Given the description of an element on the screen output the (x, y) to click on. 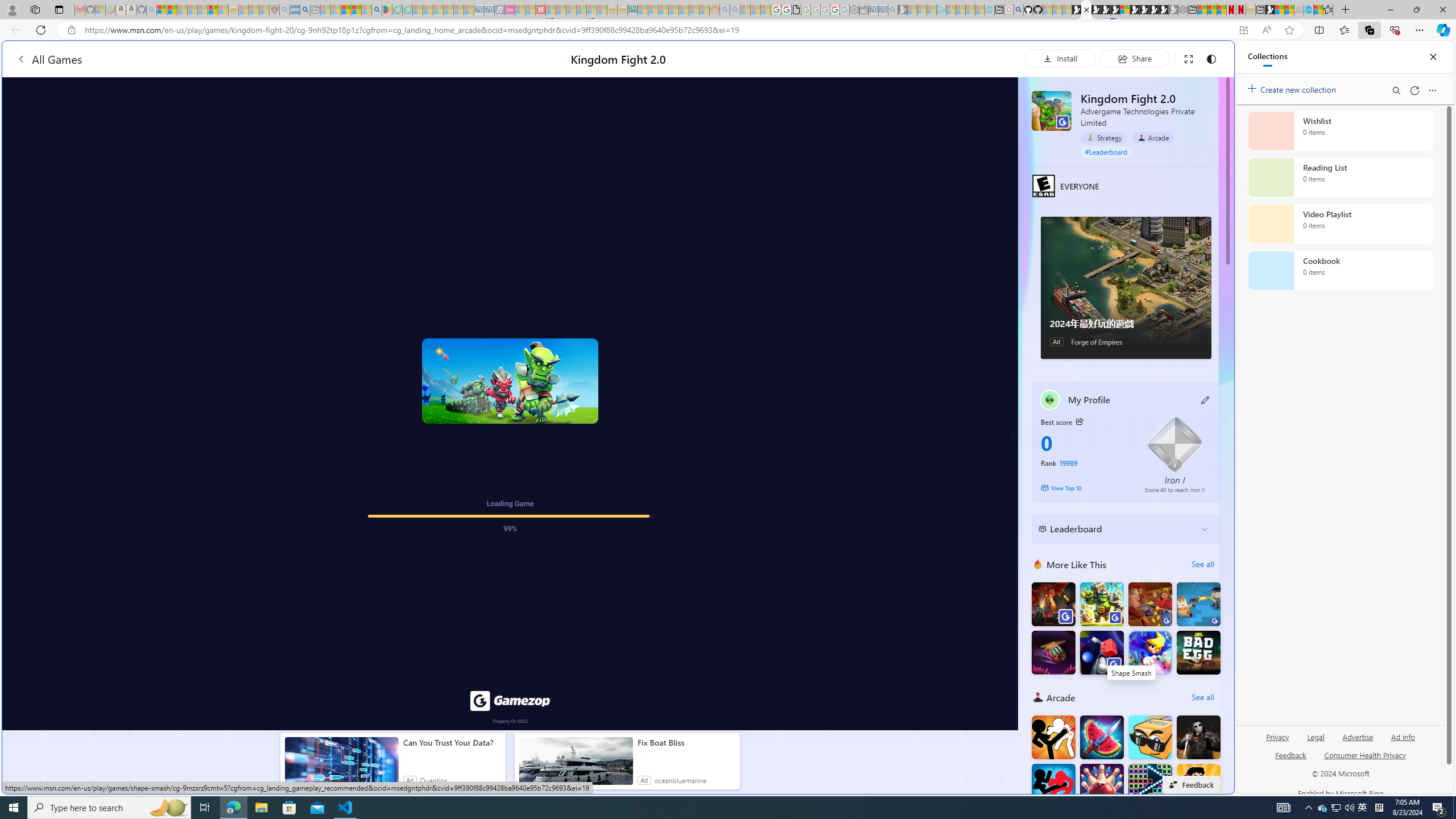
Reading List collection, 0 items (1339, 177)
Install (1060, 58)
Expert Portfolios - Sleeping (673, 9)
Arcade (1037, 697)
See all (1202, 696)
